Given the description of an element on the screen output the (x, y) to click on. 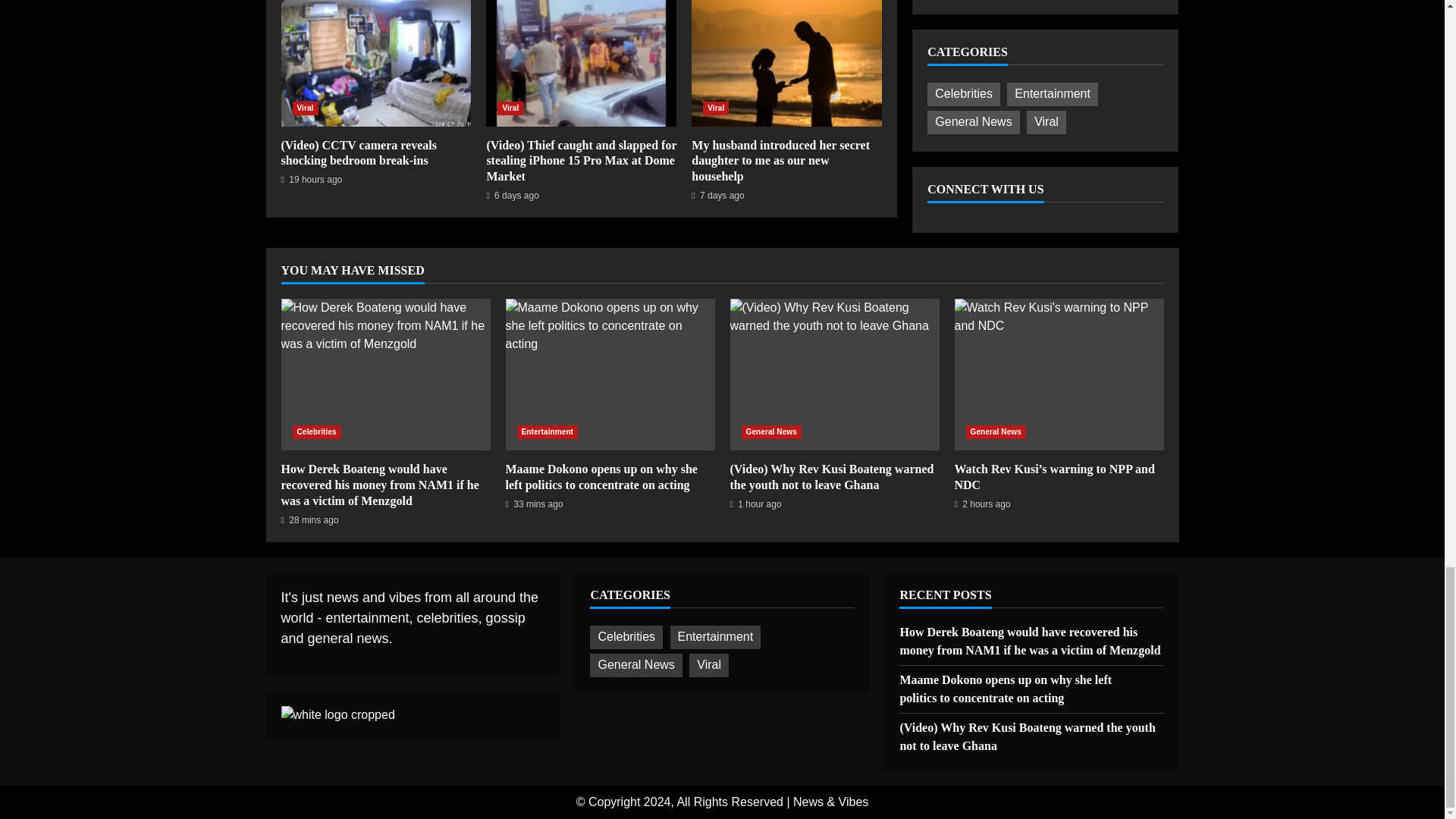
Viral (509, 108)
Man commits suicide after struggling with loneliness (385, 374)
Viral (305, 108)
Viral (716, 108)
